Given the description of an element on the screen output the (x, y) to click on. 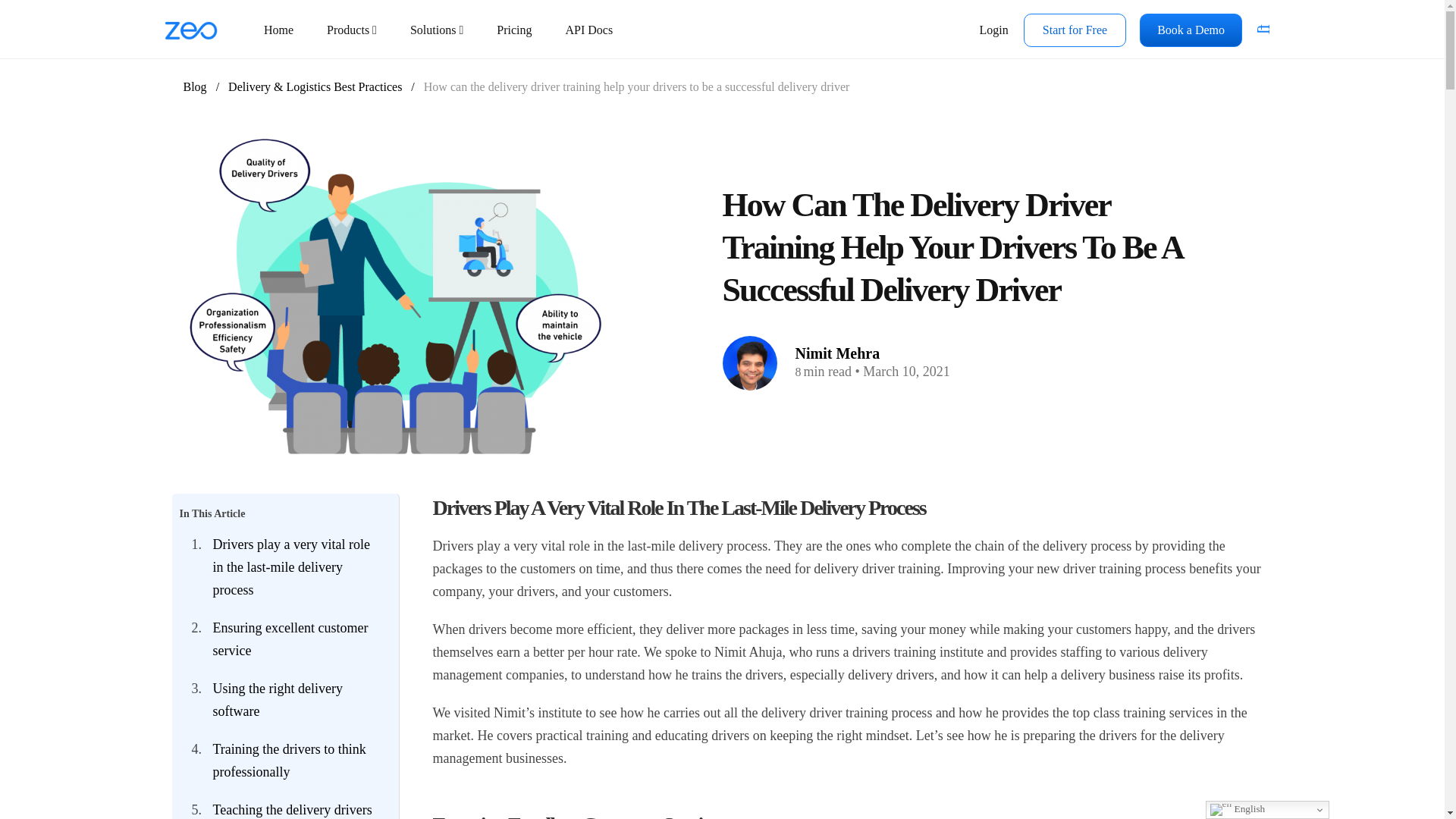
Products  (351, 30)
Home (278, 30)
Blog (194, 87)
Home (278, 30)
Solutions (436, 30)
Solutions  (436, 30)
API Docs (588, 30)
Pricing (513, 30)
Book a Demo (1190, 30)
Products (351, 30)
